Given the description of an element on the screen output the (x, y) to click on. 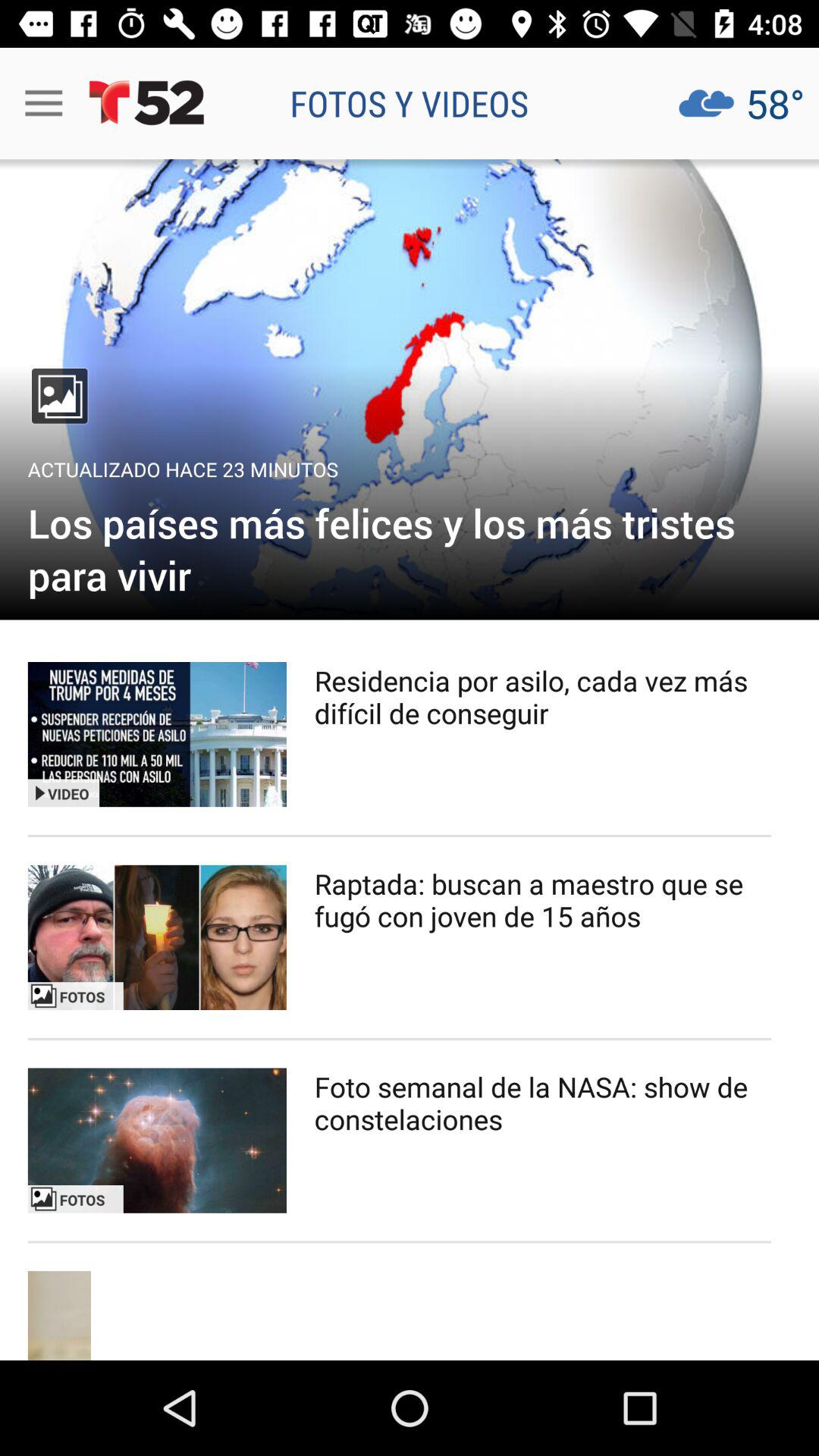
select news article (156, 937)
